Given the description of an element on the screen output the (x, y) to click on. 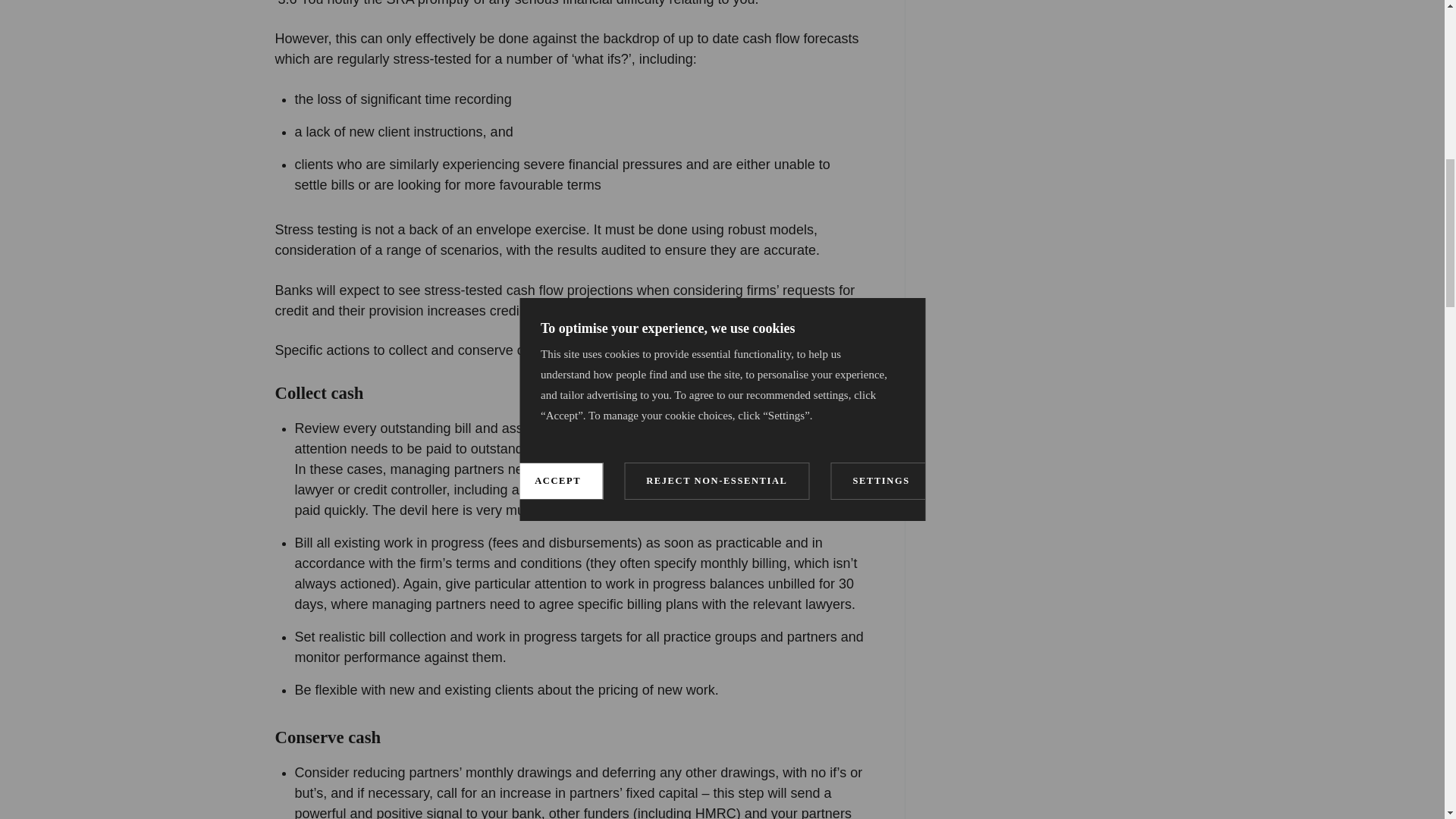
ACCEPT (557, 3)
